Given the description of an element on the screen output the (x, y) to click on. 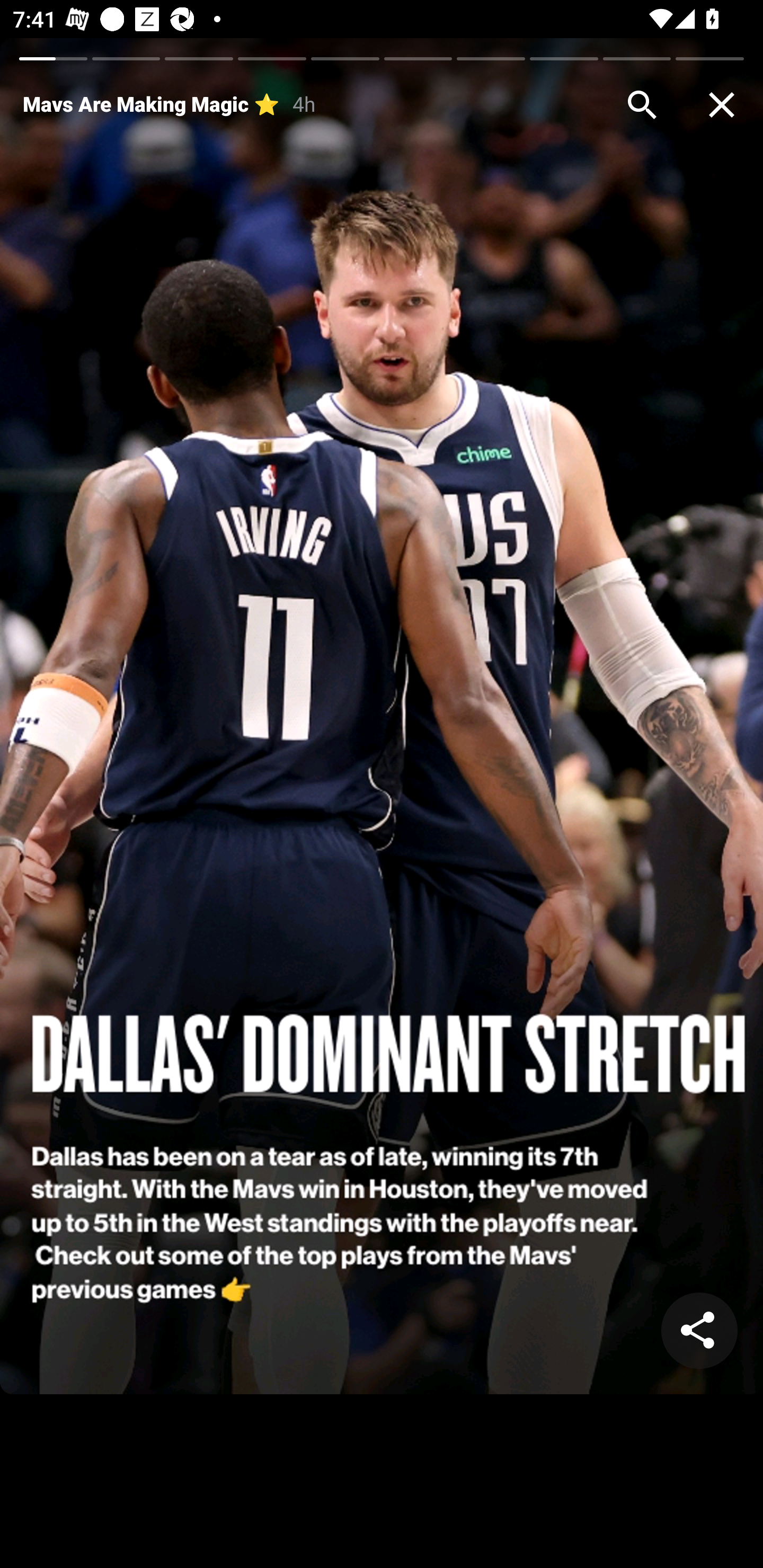
search (642, 104)
close (721, 104)
share (699, 1330)
